Given the description of an element on the screen output the (x, y) to click on. 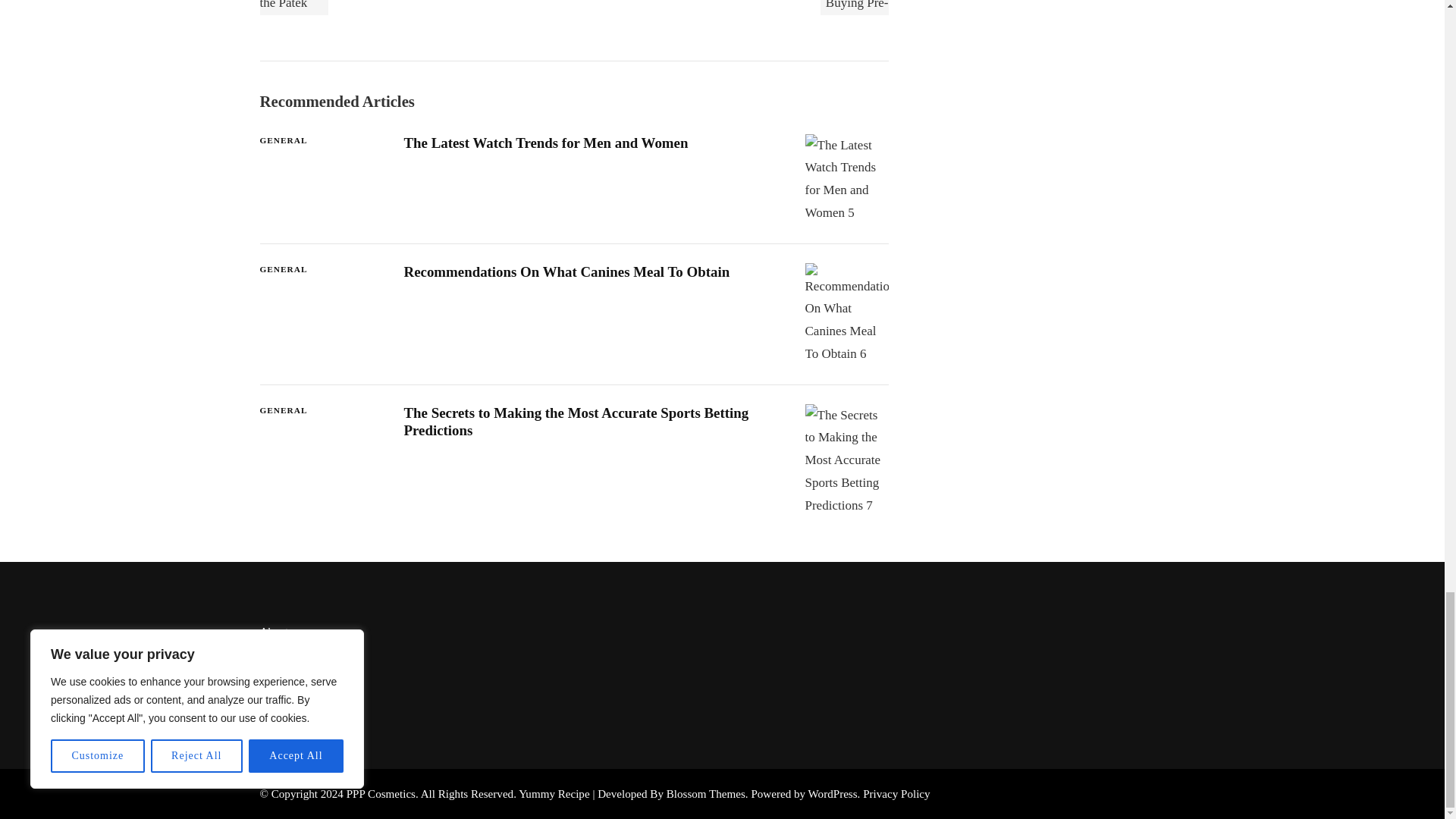
GENERAL (283, 140)
The Latest Watch Trends for Men and Women (545, 142)
